Given the description of an element on the screen output the (x, y) to click on. 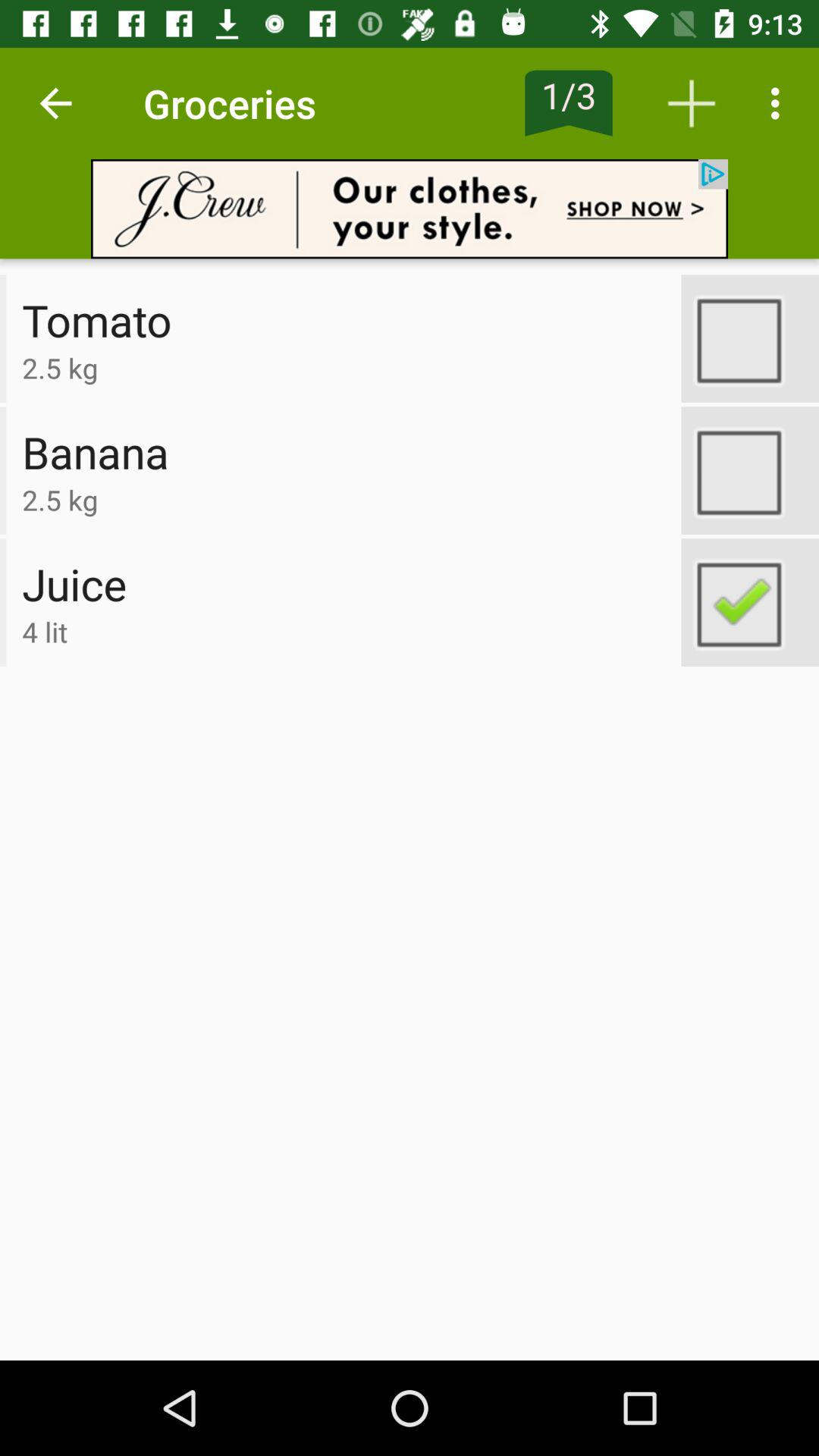
switch option (750, 602)
